Given the description of an element on the screen output the (x, y) to click on. 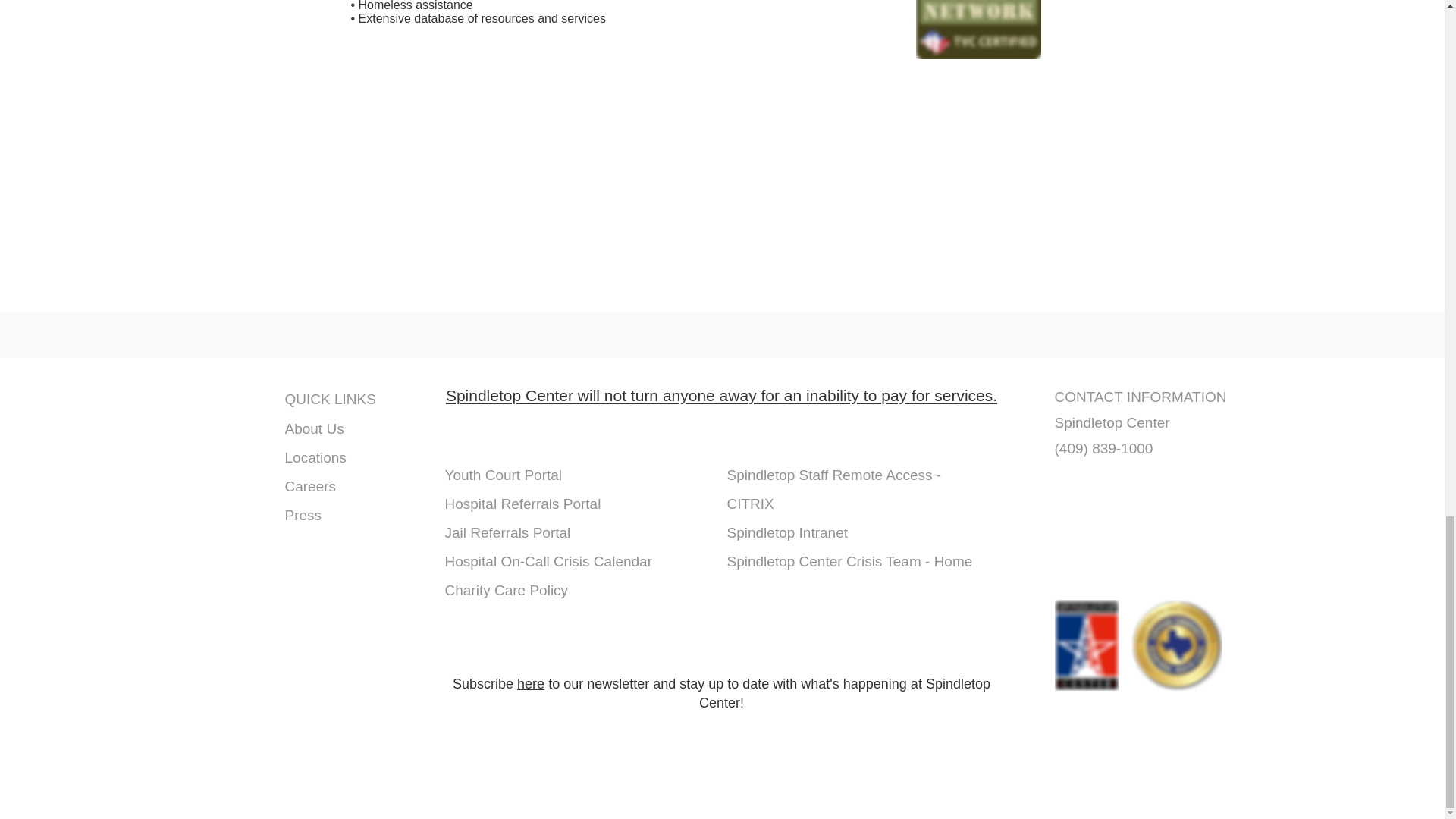
Press (357, 515)
Careers (357, 486)
Youth Court Portal  (505, 474)
Locations (357, 457)
About Us (357, 428)
